Given the description of an element on the screen output the (x, y) to click on. 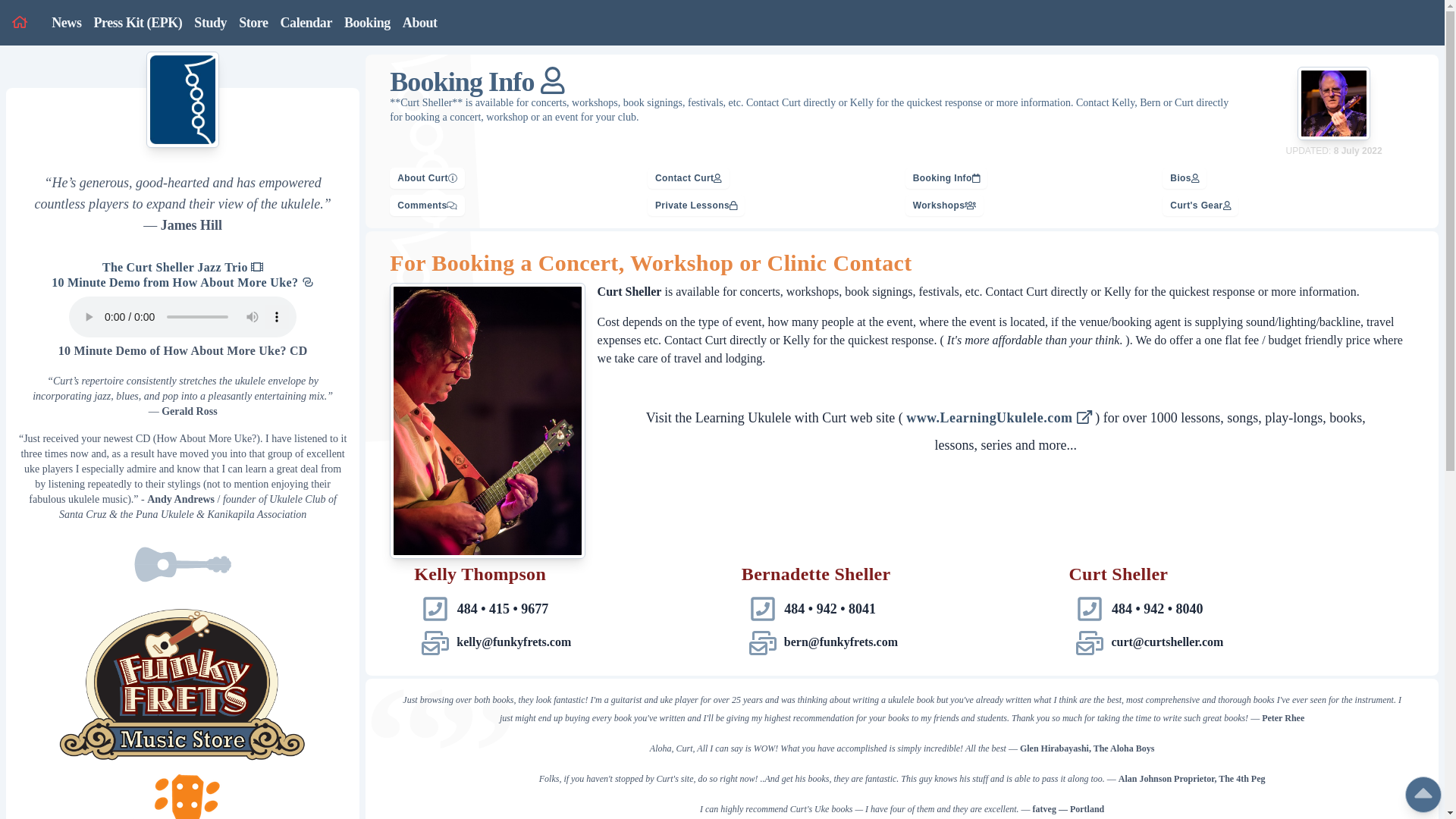
Workshops (944, 204)
Comments (427, 204)
Study (210, 22)
Curt's Gear (1200, 204)
www.LearningUkulele.com (998, 417)
News (65, 22)
Bios (1184, 176)
Private Lessons (696, 204)
About (420, 22)
Contact Curt (688, 176)
Store (252, 22)
How About More Uke? (243, 282)
About Curt (427, 176)
Calendar (306, 22)
Booking Info (946, 176)
